Given the description of an element on the screen output the (x, y) to click on. 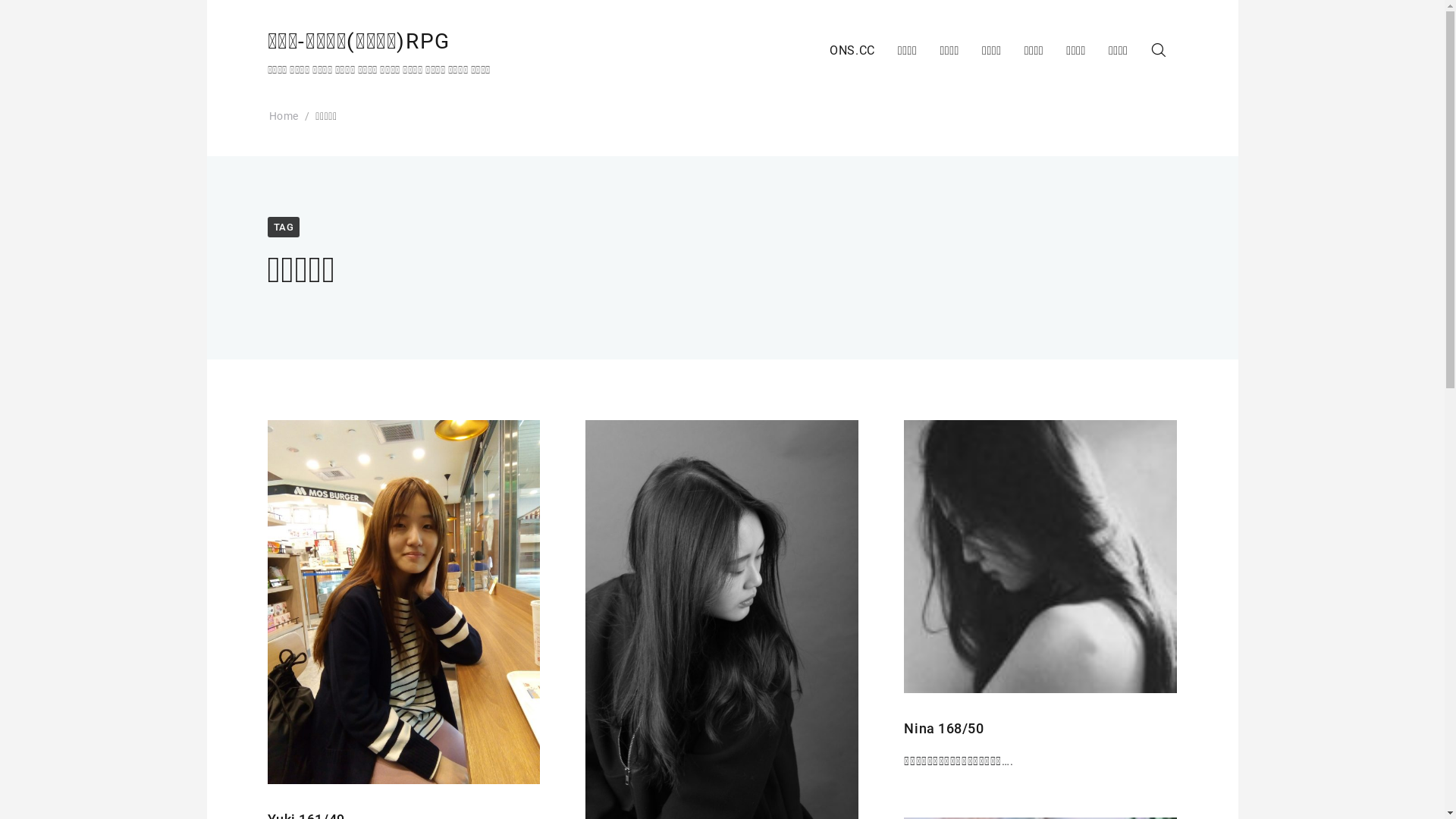
Home Element type: text (283, 115)
ONS.CC Element type: text (851, 50)
Nina 168/50 Element type: text (943, 728)
